Given the description of an element on the screen output the (x, y) to click on. 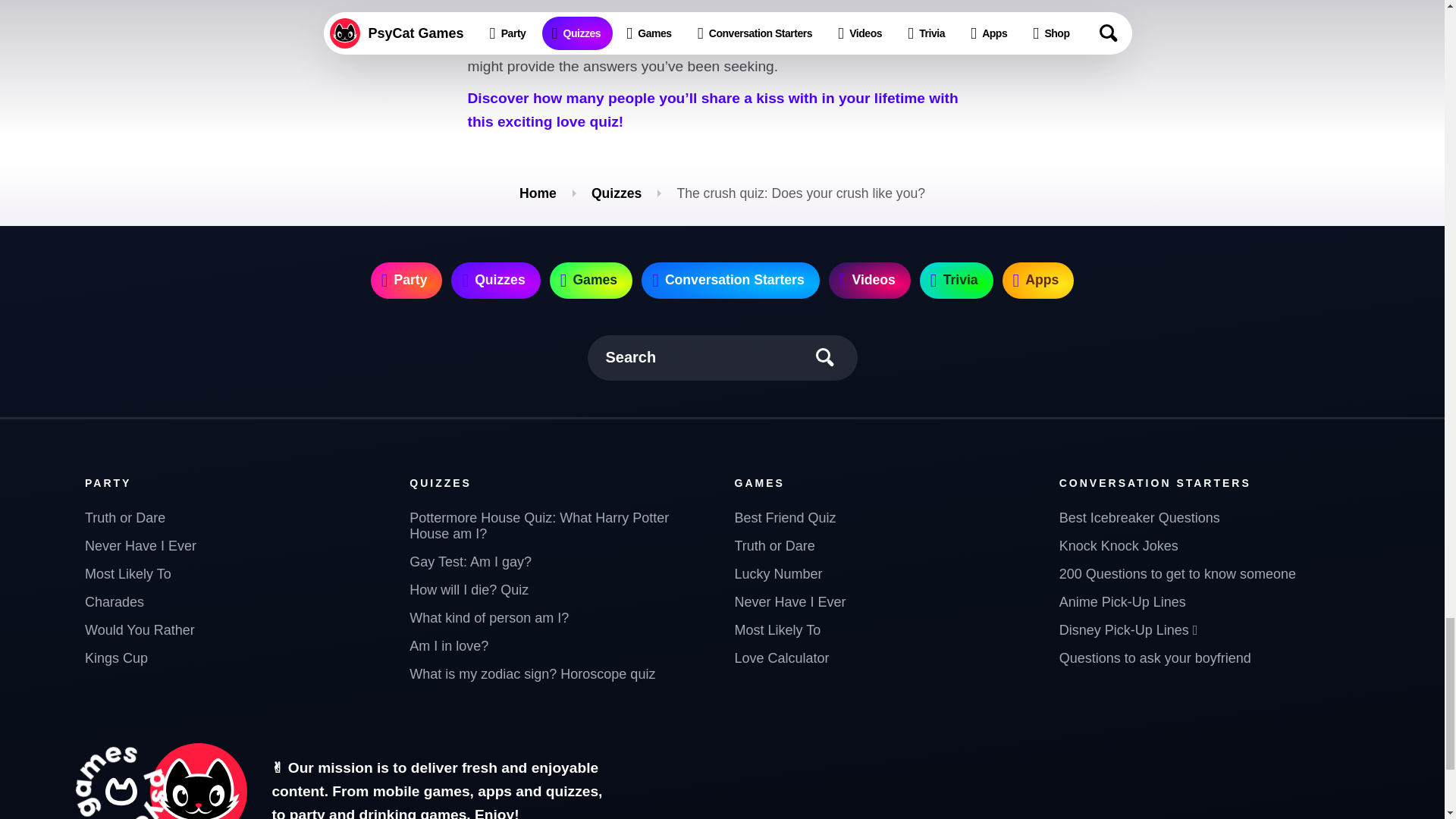
PARTY (107, 482)
Search (721, 357)
Quizzes (616, 193)
Home (537, 193)
